Given the description of an element on the screen output the (x, y) to click on. 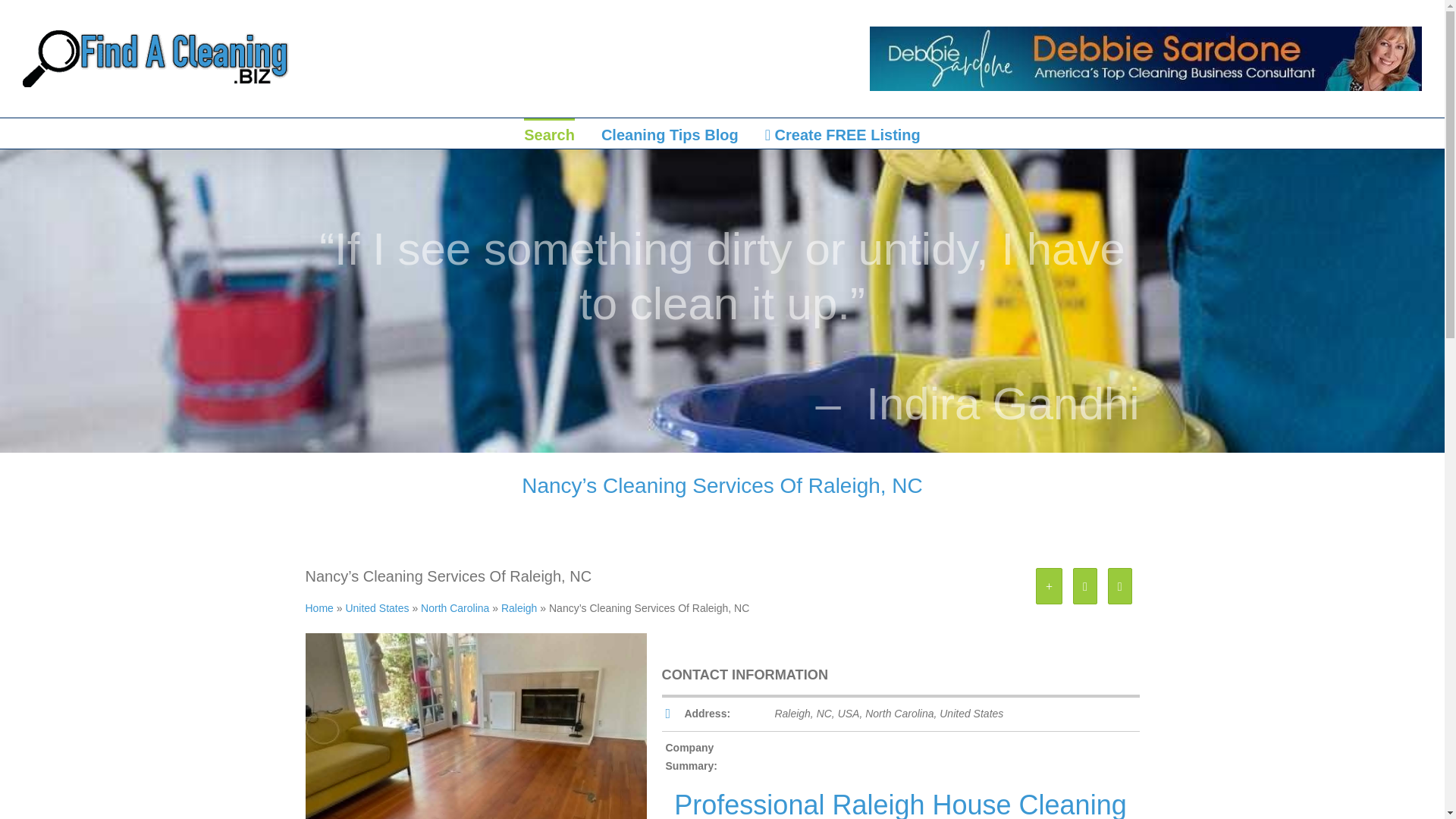
View all listings in United States (377, 607)
United States (377, 607)
Cleaning Tips Blog (669, 132)
Raleigh (518, 607)
cleaning services raleigh (475, 760)
Home (318, 607)
North Carolina (454, 607)
View all listings in Raleigh (518, 607)
View all listings in North Carolina (454, 607)
Create FREE Listing (842, 132)
